Given the description of an element on the screen output the (x, y) to click on. 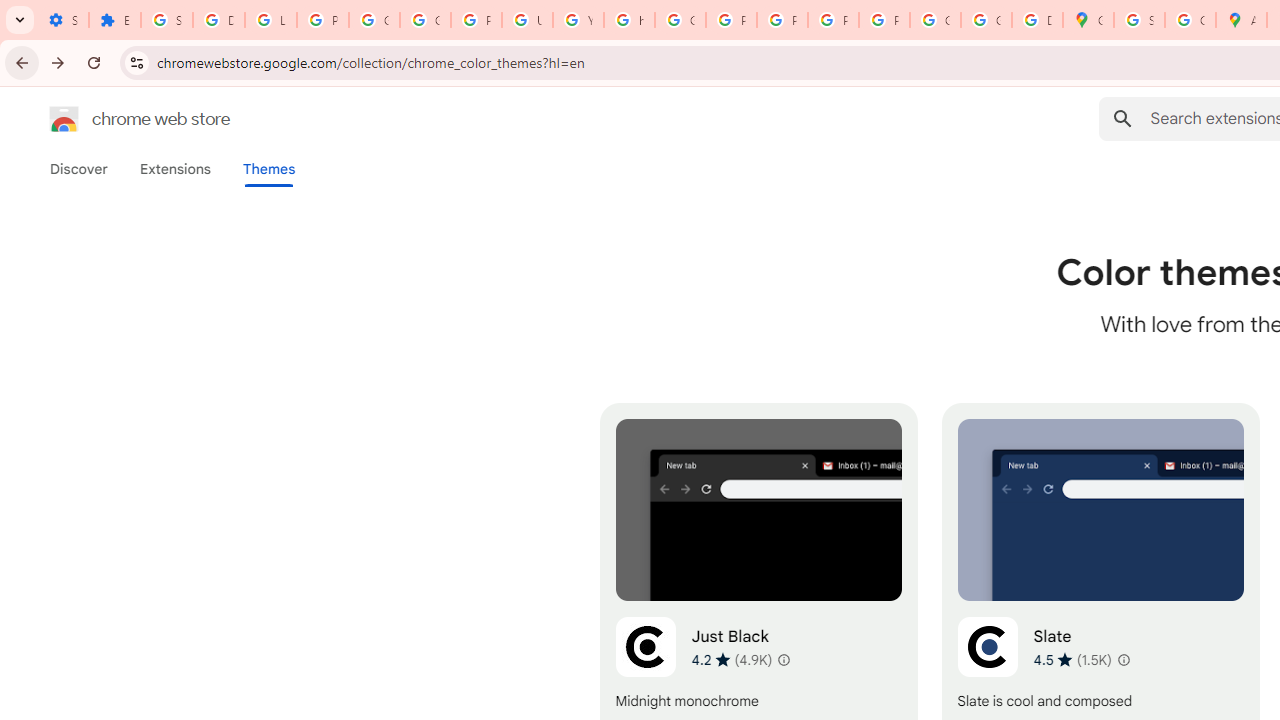
Delete photos & videos - Computer - Google Photos Help (218, 20)
Learn more about results and reviews "Just Black" (783, 659)
Average rating 4.2 out of 5 stars. 4.9K ratings. (732, 659)
Sign in - Google Accounts (1138, 20)
Extensions (174, 169)
Privacy Help Center - Policies Help (731, 20)
Chrome Web Store logo chrome web store (118, 118)
